Given the description of an element on the screen output the (x, y) to click on. 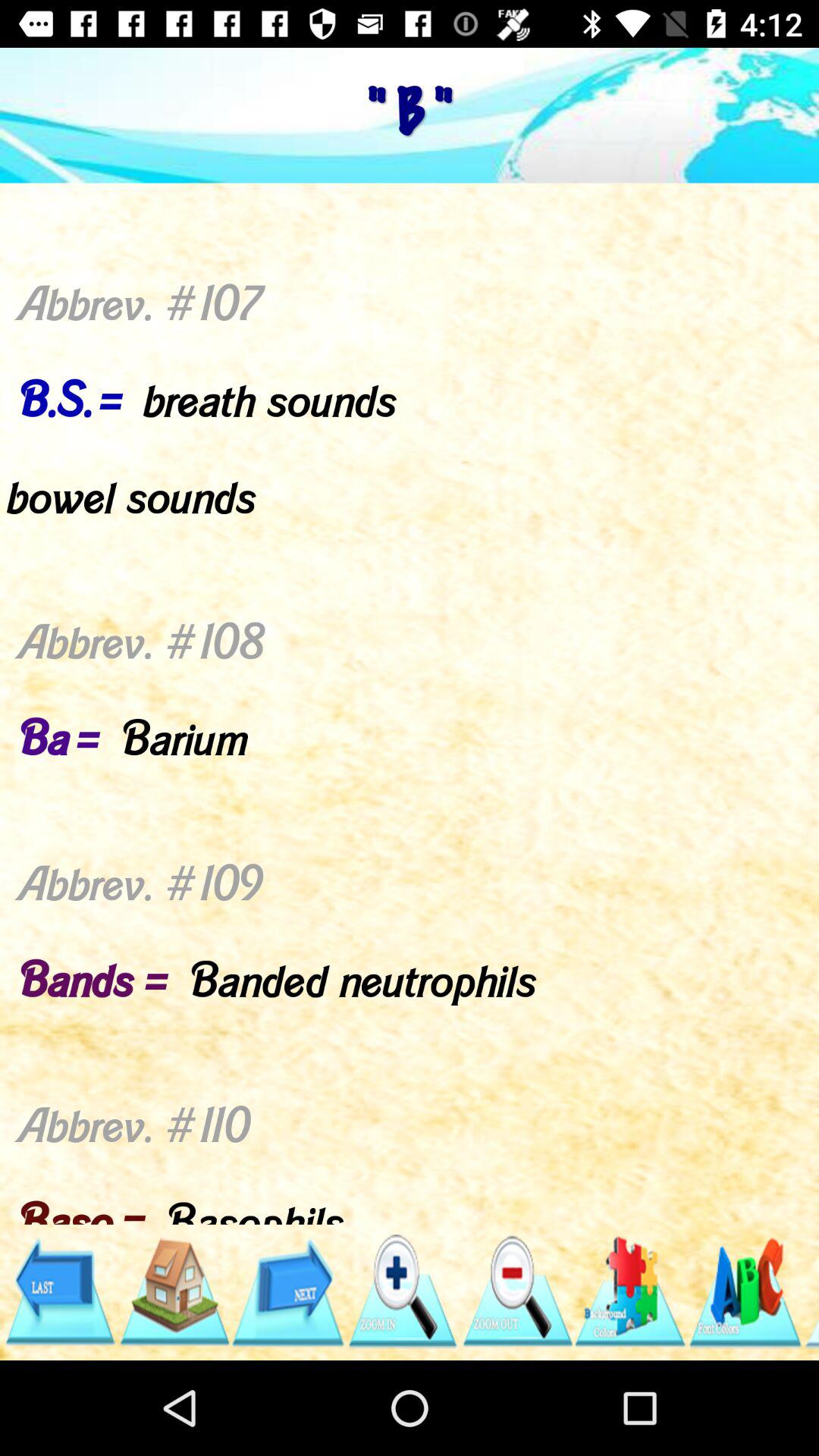
click abc (745, 1291)
